Given the description of an element on the screen output the (x, y) to click on. 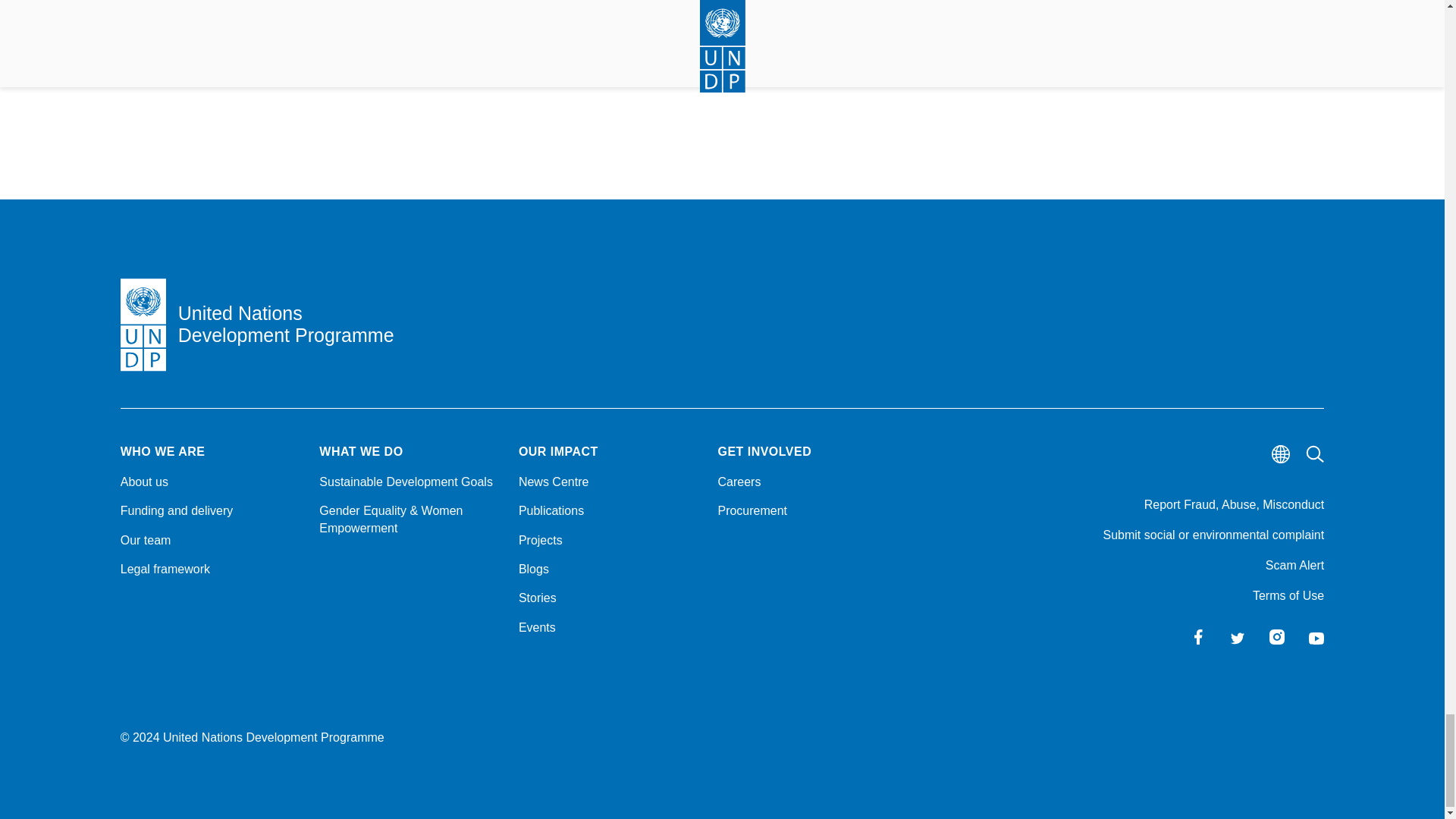
Facebook (1198, 636)
Twitter (1237, 636)
YouTube (1315, 636)
Instagram (1276, 636)
